Given the description of an element on the screen output the (x, y) to click on. 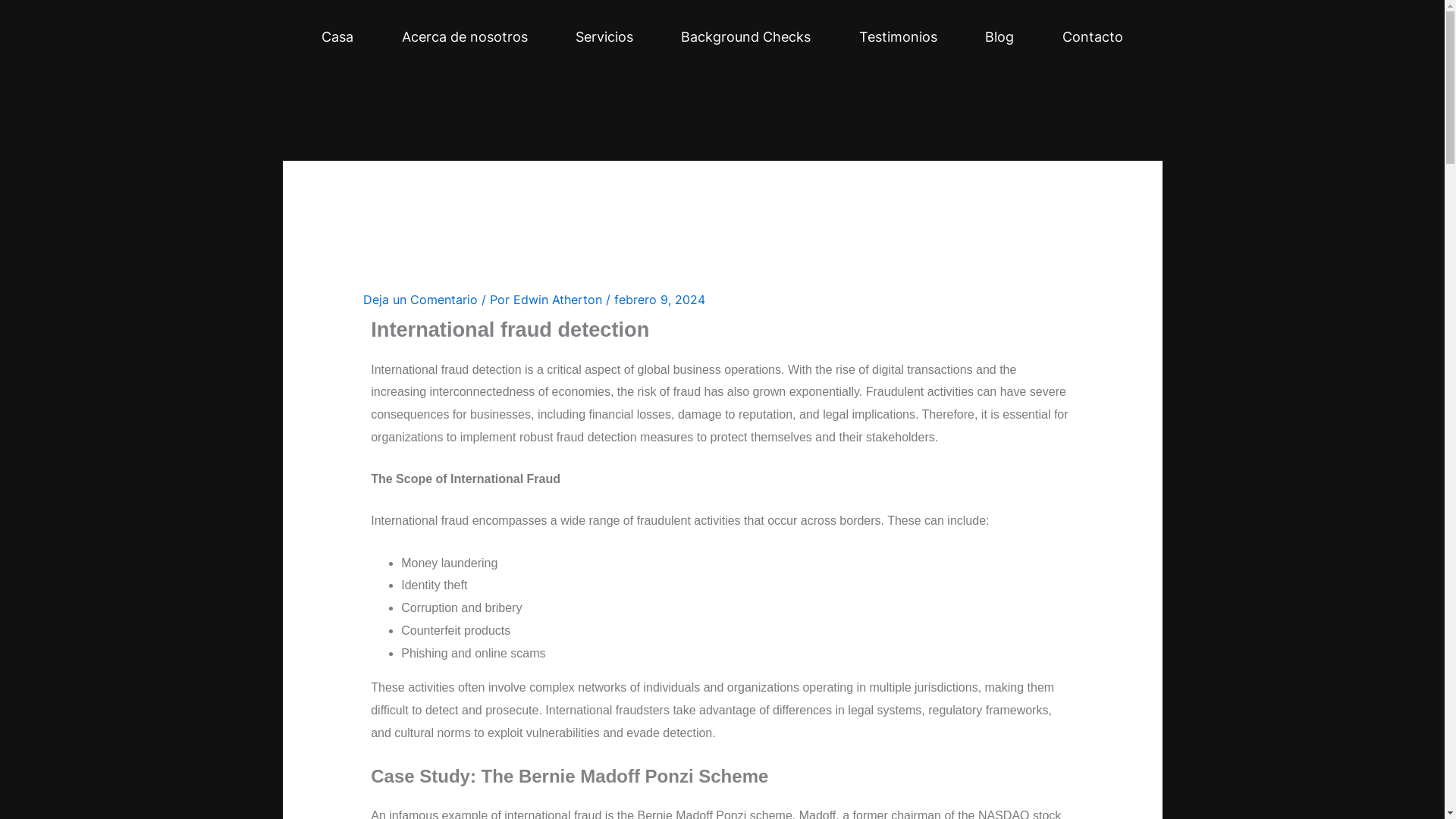
Saltar al contenido (50, 9)
Deja un Comentario (90, 164)
Saltar al contenido (50, 9)
Ver todos los mensajes por Edwin Atherton (219, 164)
Edwin Atherton (219, 164)
